Given the description of an element on the screen output the (x, y) to click on. 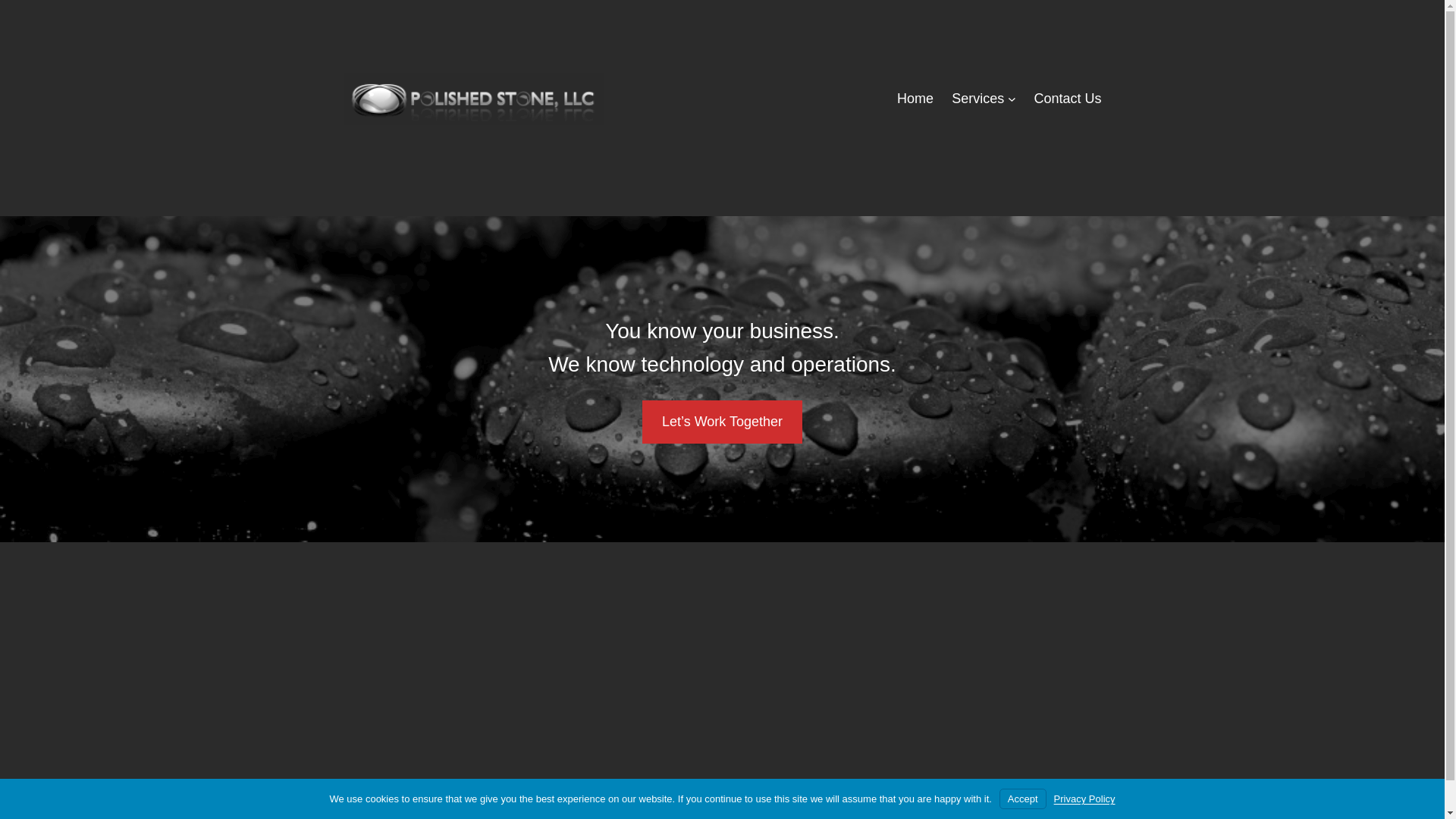
TechOpsHeroes.com (713, 787)
Polished Stone Consulting (429, 787)
Services (978, 98)
Contact Us (1066, 98)
WordPress (1067, 787)
Home (914, 98)
Accept (1022, 798)
Privacy Policy (1084, 798)
